Given the description of an element on the screen output the (x, y) to click on. 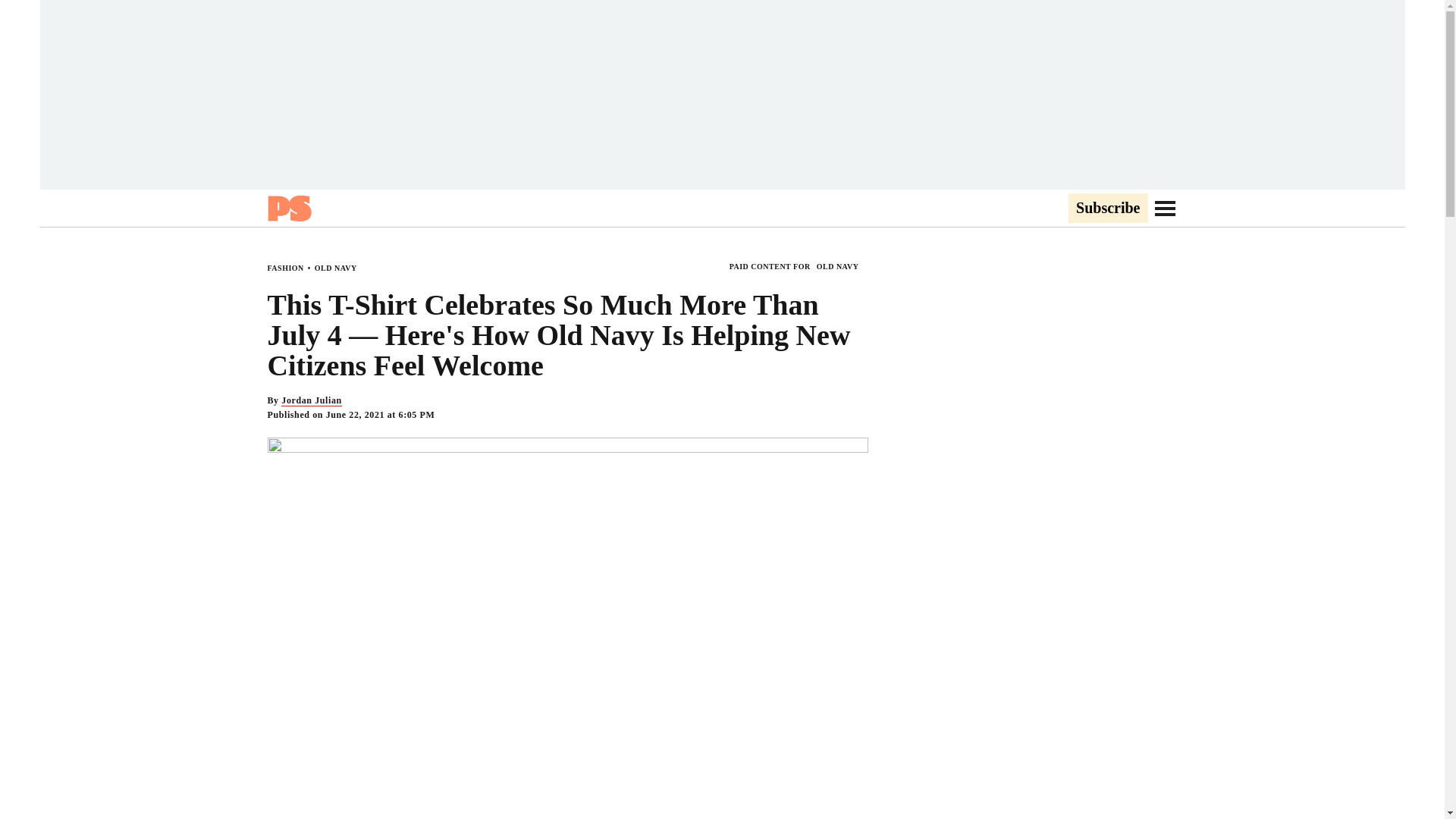
Go to Navigation (1164, 207)
Jordan Julian (311, 400)
Go to Navigation (1164, 207)
Popsugar (288, 208)
Subscribe (1107, 208)
OLD NAVY (335, 267)
FASHION (284, 267)
